Given the description of an element on the screen output the (x, y) to click on. 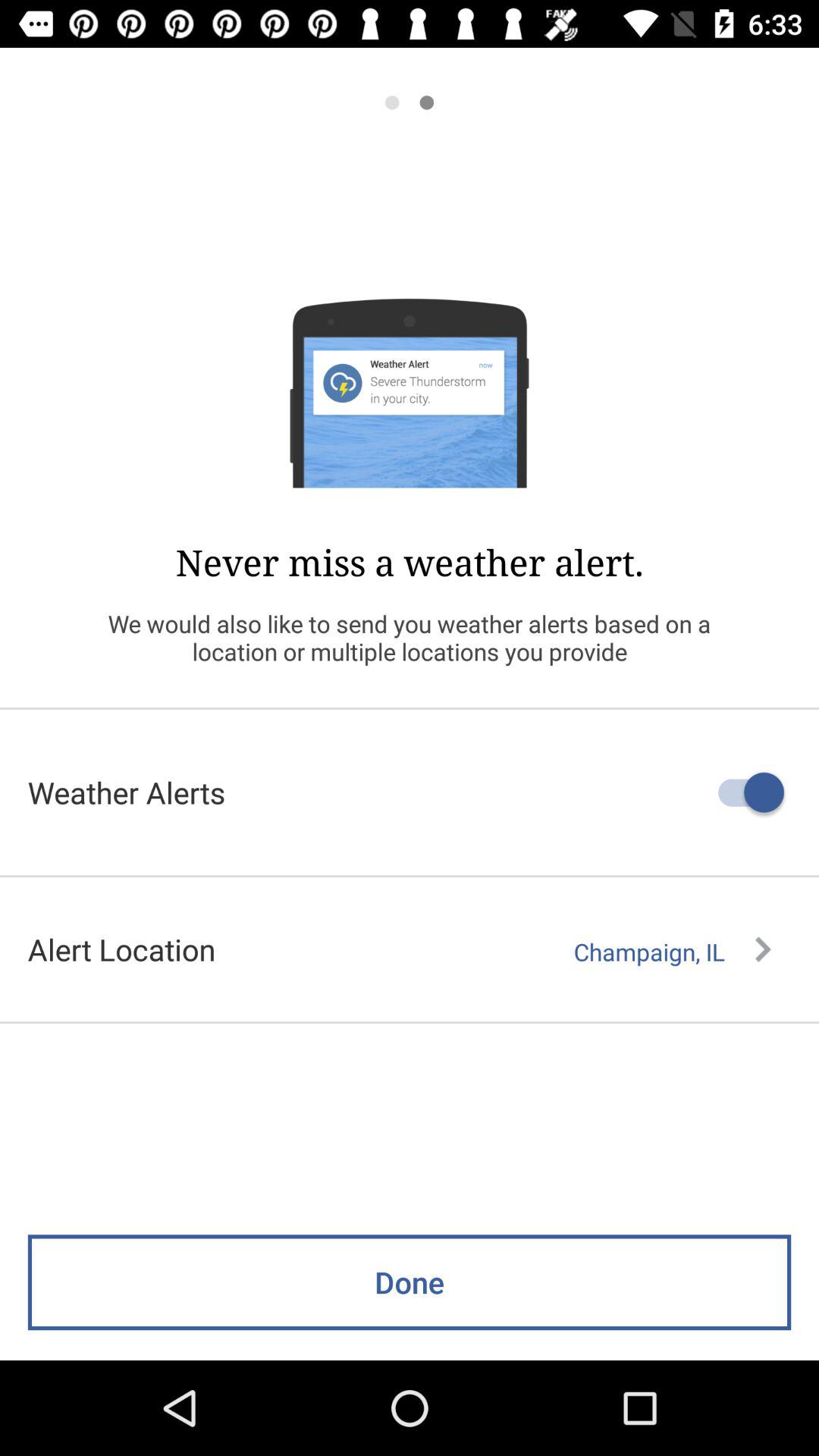
select the champaign, il icon (672, 951)
